Given the description of an element on the screen output the (x, y) to click on. 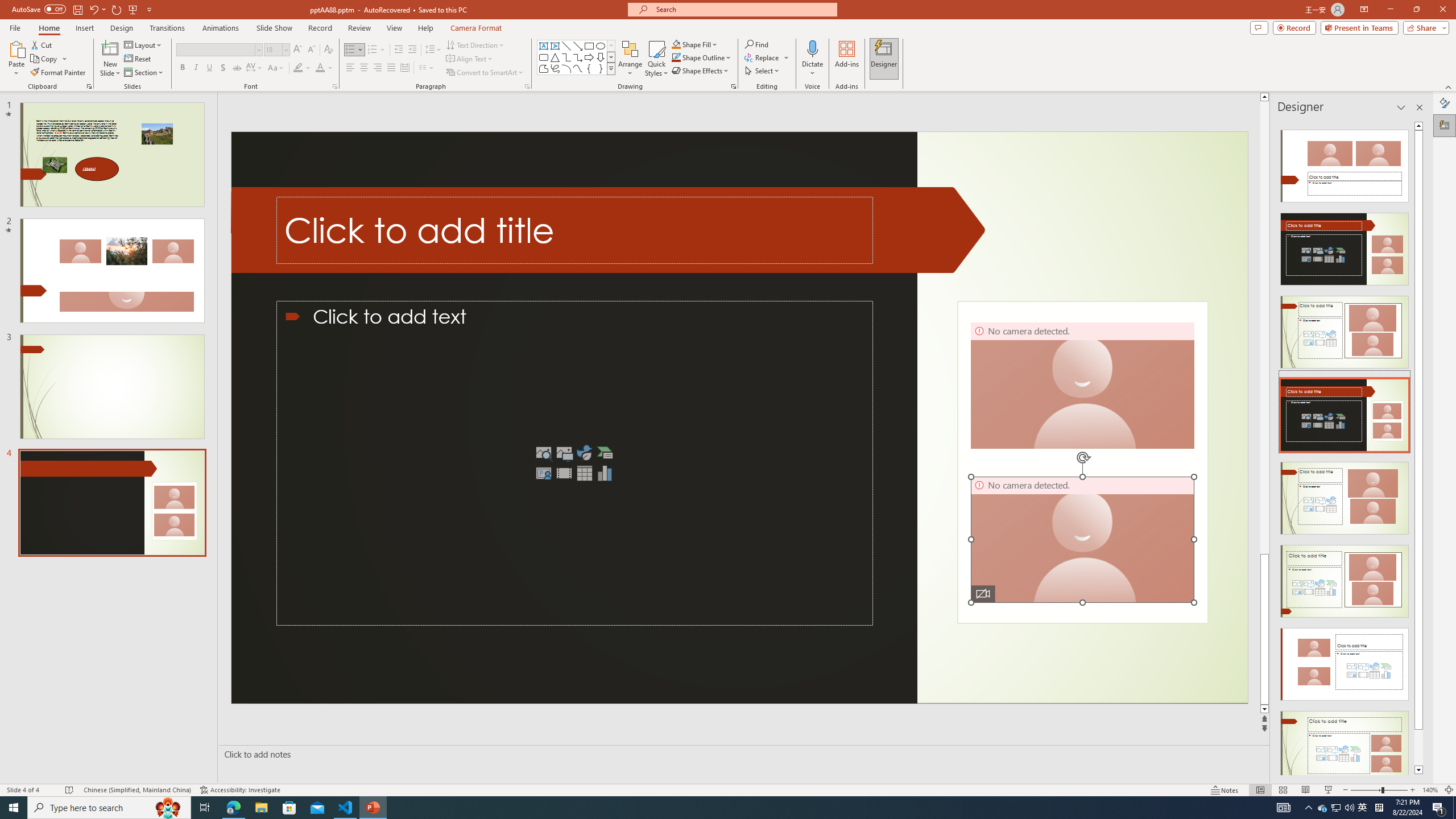
Spell Check No Errors (69, 790)
Title TextBox (574, 229)
Open (285, 49)
Format Background (1444, 102)
Freeform: Shape (543, 68)
Align Text (470, 58)
Clear Formatting (327, 49)
Line (566, 45)
Section (144, 72)
Page up (1264, 327)
Right Brace (600, 68)
